Given the description of an element on the screen output the (x, y) to click on. 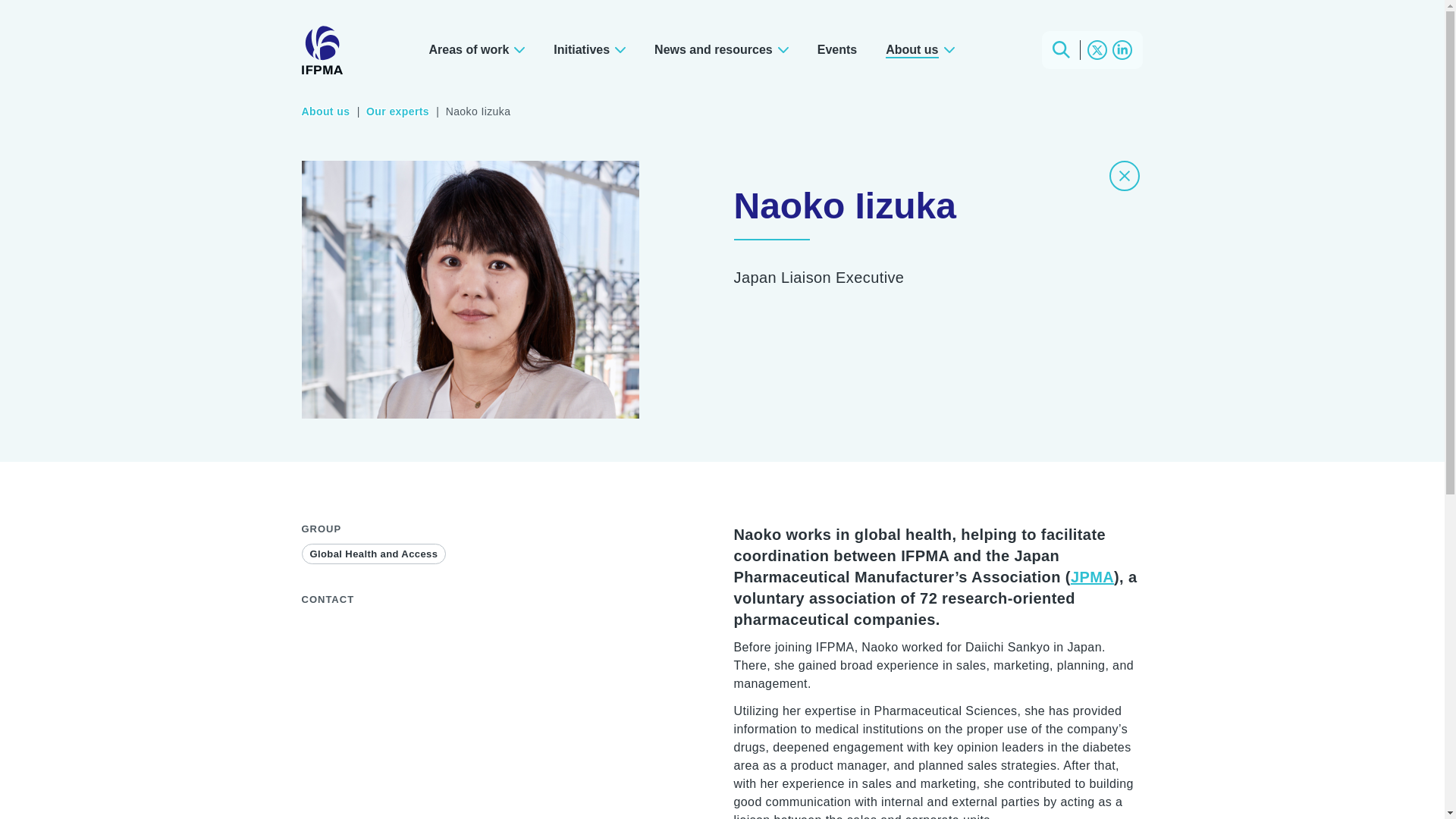
News and resources (721, 49)
Areas of work (475, 49)
Initiatives (589, 49)
